Given the description of an element on the screen output the (x, y) to click on. 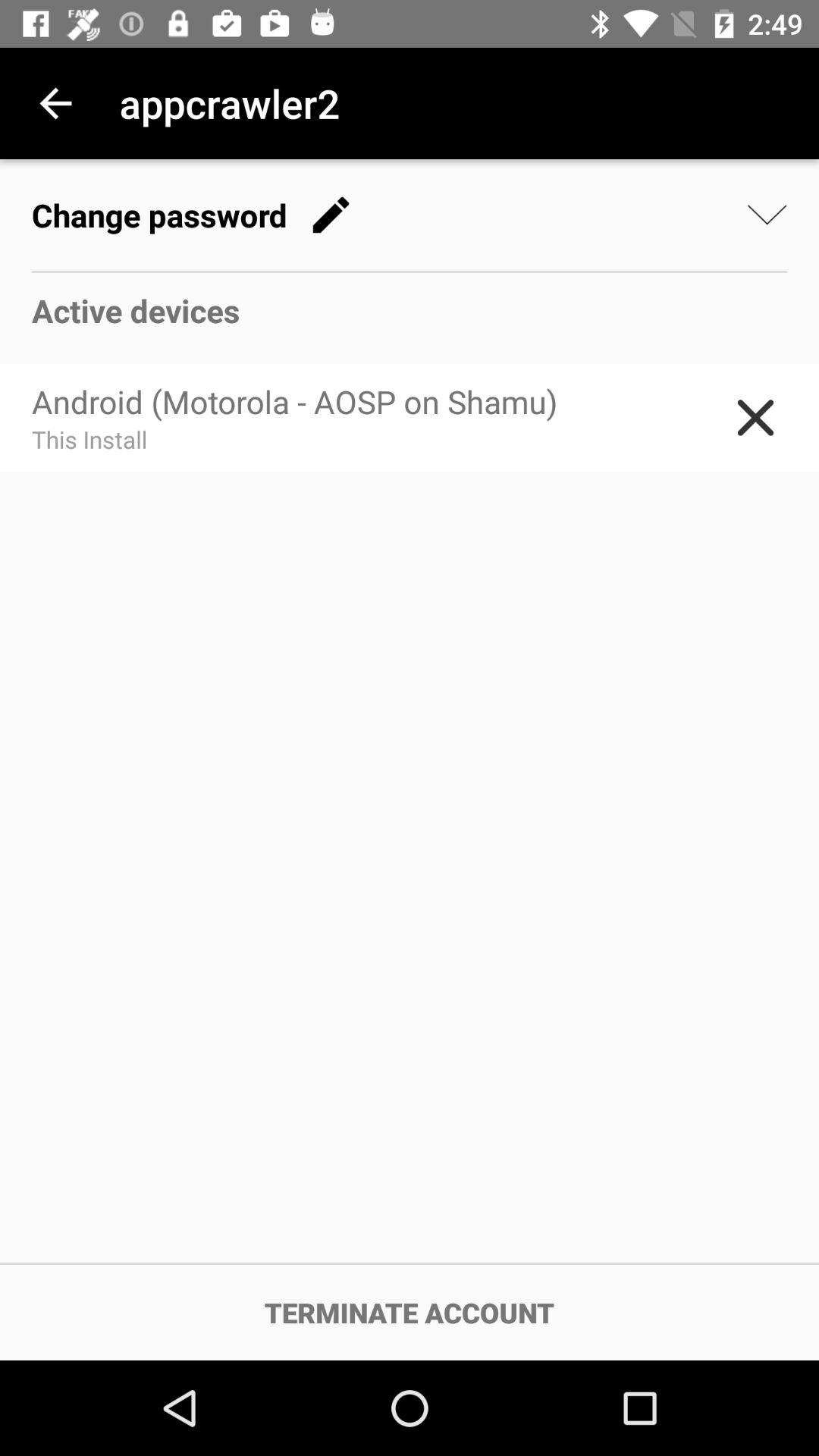
tap the app to the left of the appcrawler2 item (55, 103)
